Given the description of an element on the screen output the (x, y) to click on. 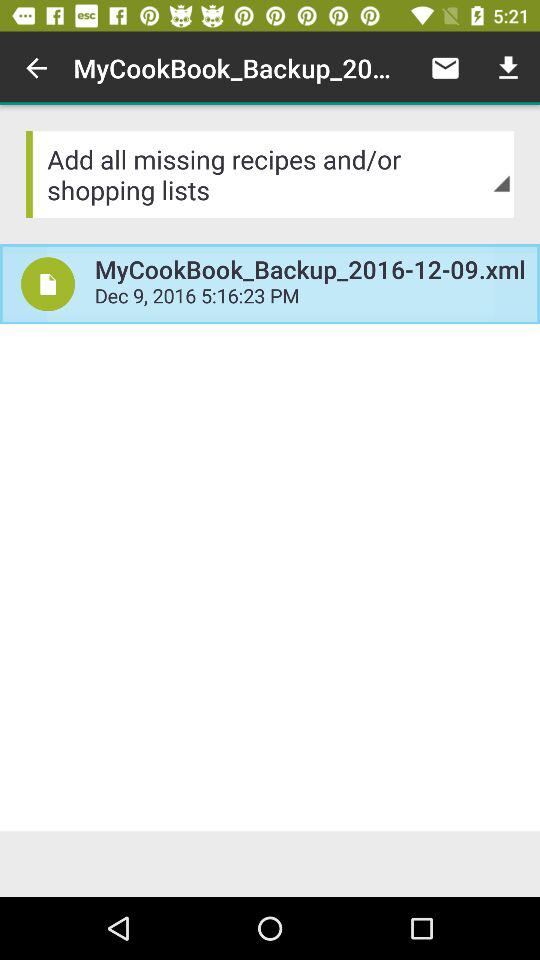
turn on item above add all missing (444, 67)
